Given the description of an element on the screen output the (x, y) to click on. 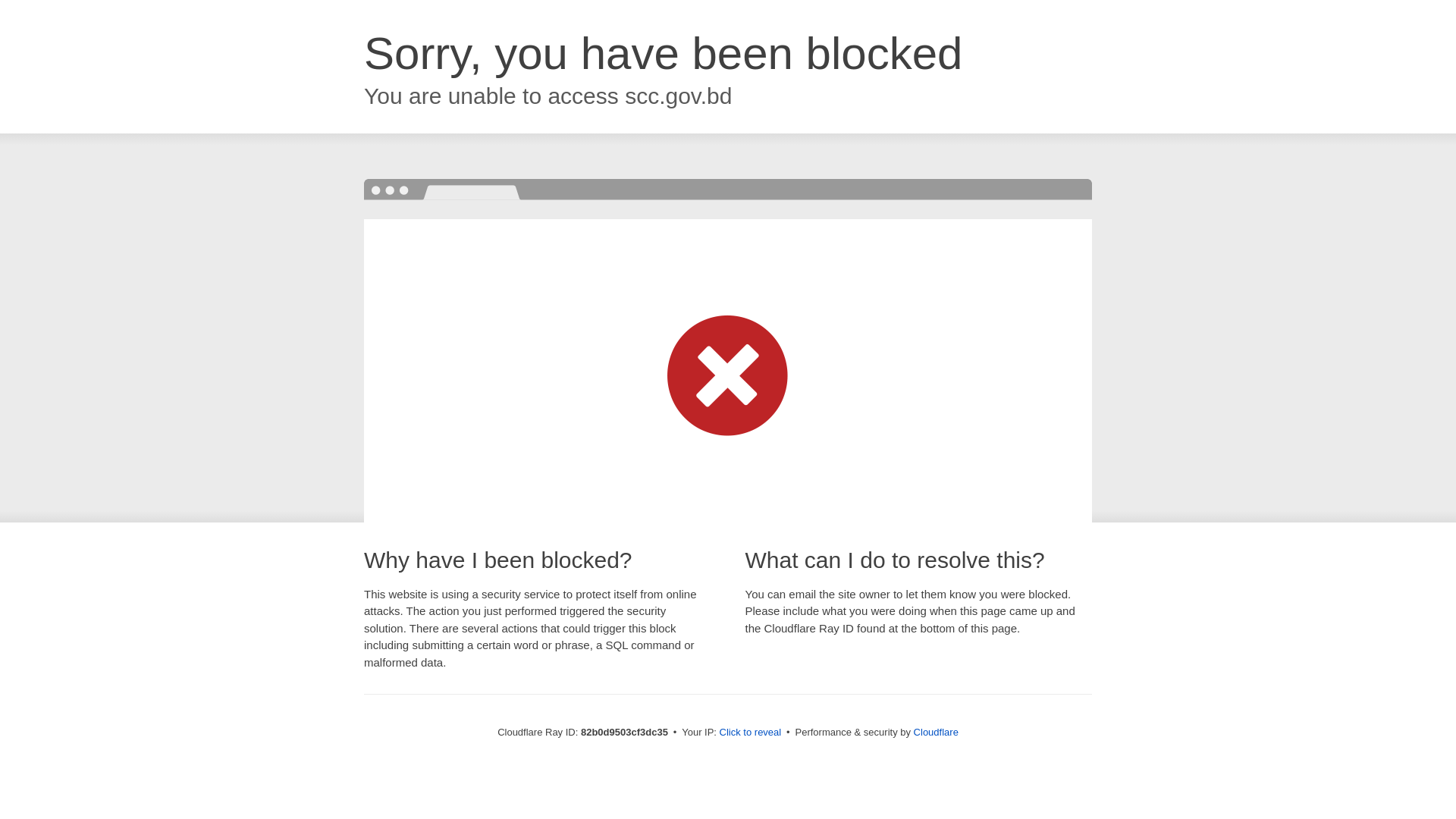
Cloudflare Element type: text (935, 731)
Click to reveal Element type: text (750, 732)
